Given the description of an element on the screen output the (x, y) to click on. 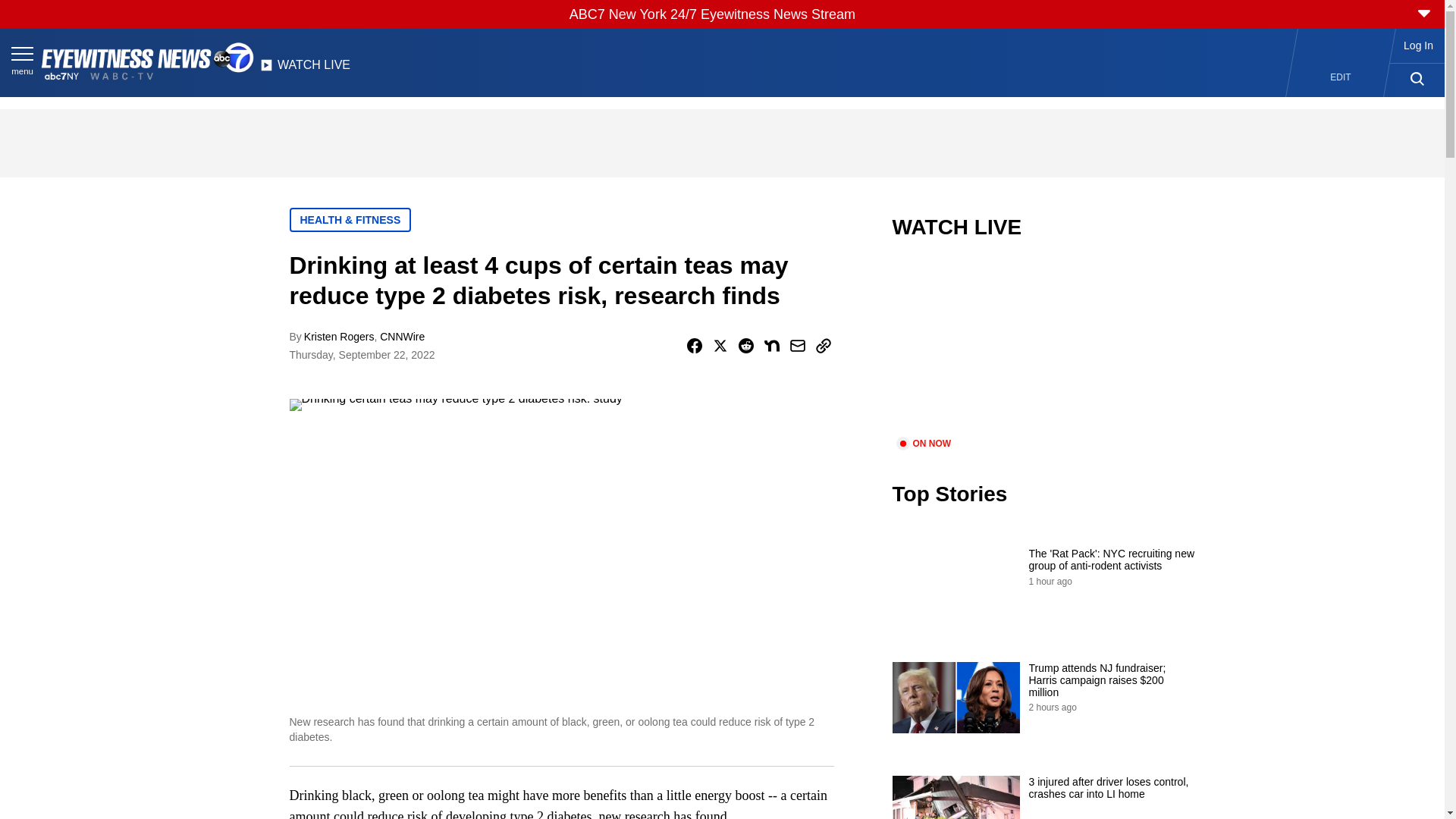
video.title (1043, 347)
WATCH LIVE (305, 69)
EDIT (1340, 77)
